Given the description of an element on the screen output the (x, y) to click on. 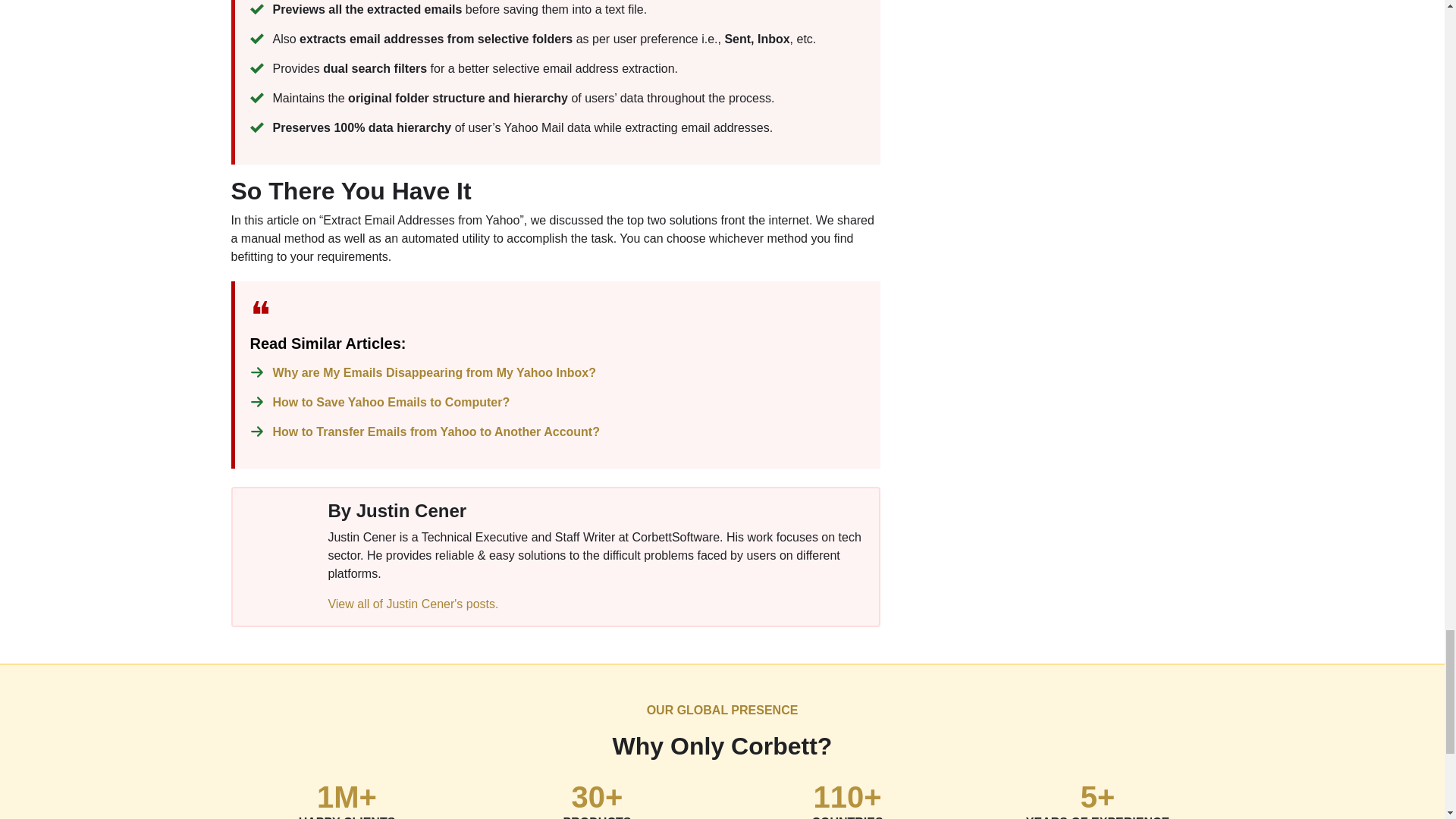
View all of Justin Cener's posts. (412, 603)
How to Save Yahoo Emails to Computer? (392, 401)
Why are My Emails Disappearing from My Yahoo Inbox? (434, 372)
How to Transfer Emails from Yahoo to Another Account? (436, 431)
